Given the description of an element on the screen output the (x, y) to click on. 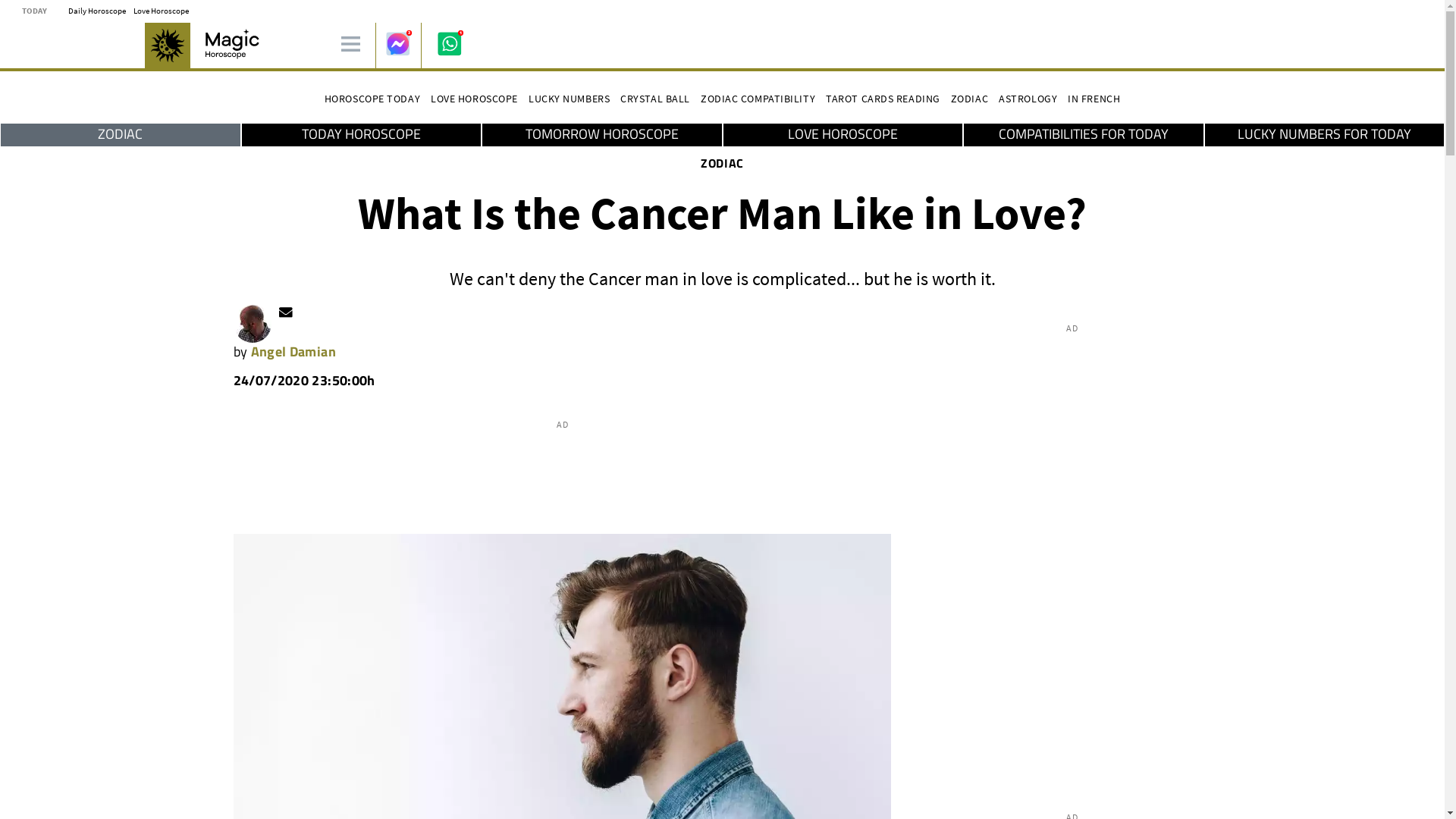
Crystal ball (655, 98)
ZODIAC (722, 162)
Whatsapp (448, 43)
TODAY HOROSCOPE (360, 133)
Love Horoscope (474, 98)
ASTROLOGY (1027, 98)
LOVE HOROSCOPE (474, 98)
HOROSCOPE TODAY (372, 98)
by Angel Damian (284, 350)
The Daily Horoscope for March 22nd, 2024 (96, 9)
themagichoroscope.com (241, 43)
Horoscope Today (372, 98)
Daily Horoscope (96, 9)
TAROT CARDS READING (882, 98)
LOVE HOROSCOPE (842, 133)
